Given the description of an element on the screen output the (x, y) to click on. 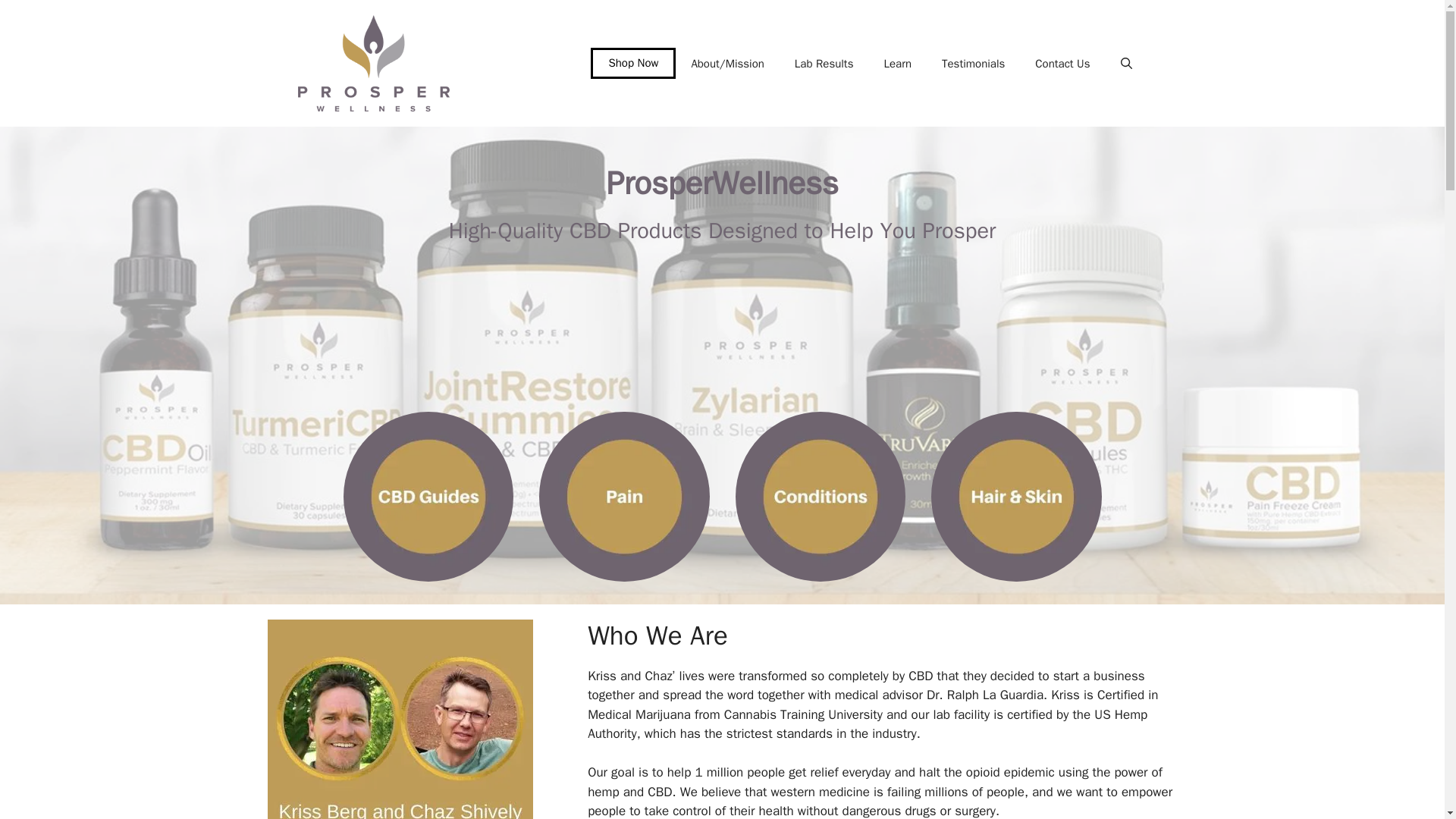
Learn (896, 63)
Shop Now (633, 62)
Contact Us (1062, 63)
Testimonials (973, 63)
Lab Results (823, 63)
